Given the description of an element on the screen output the (x, y) to click on. 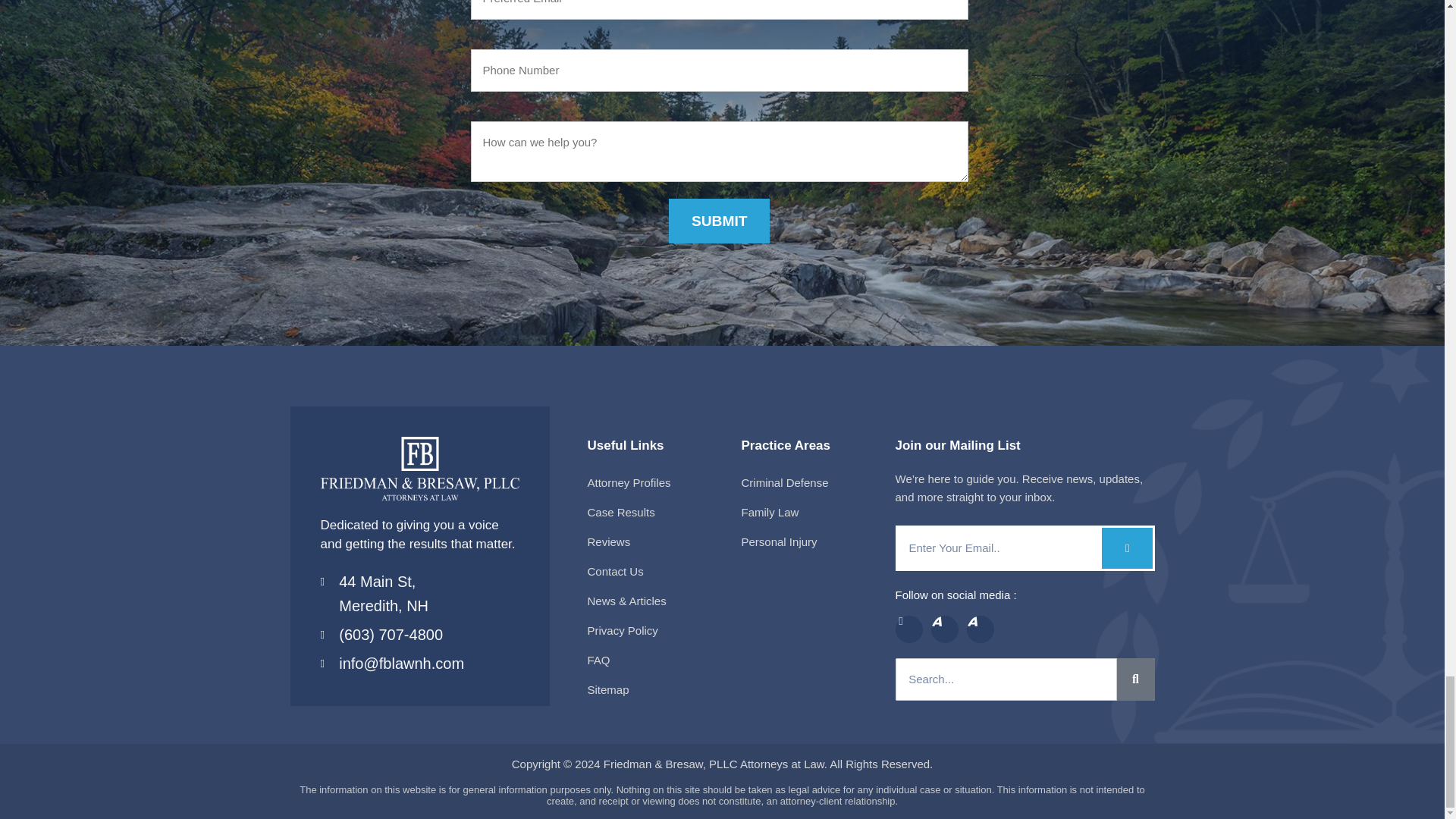
Submit (719, 221)
